Given the description of an element on the screen output the (x, y) to click on. 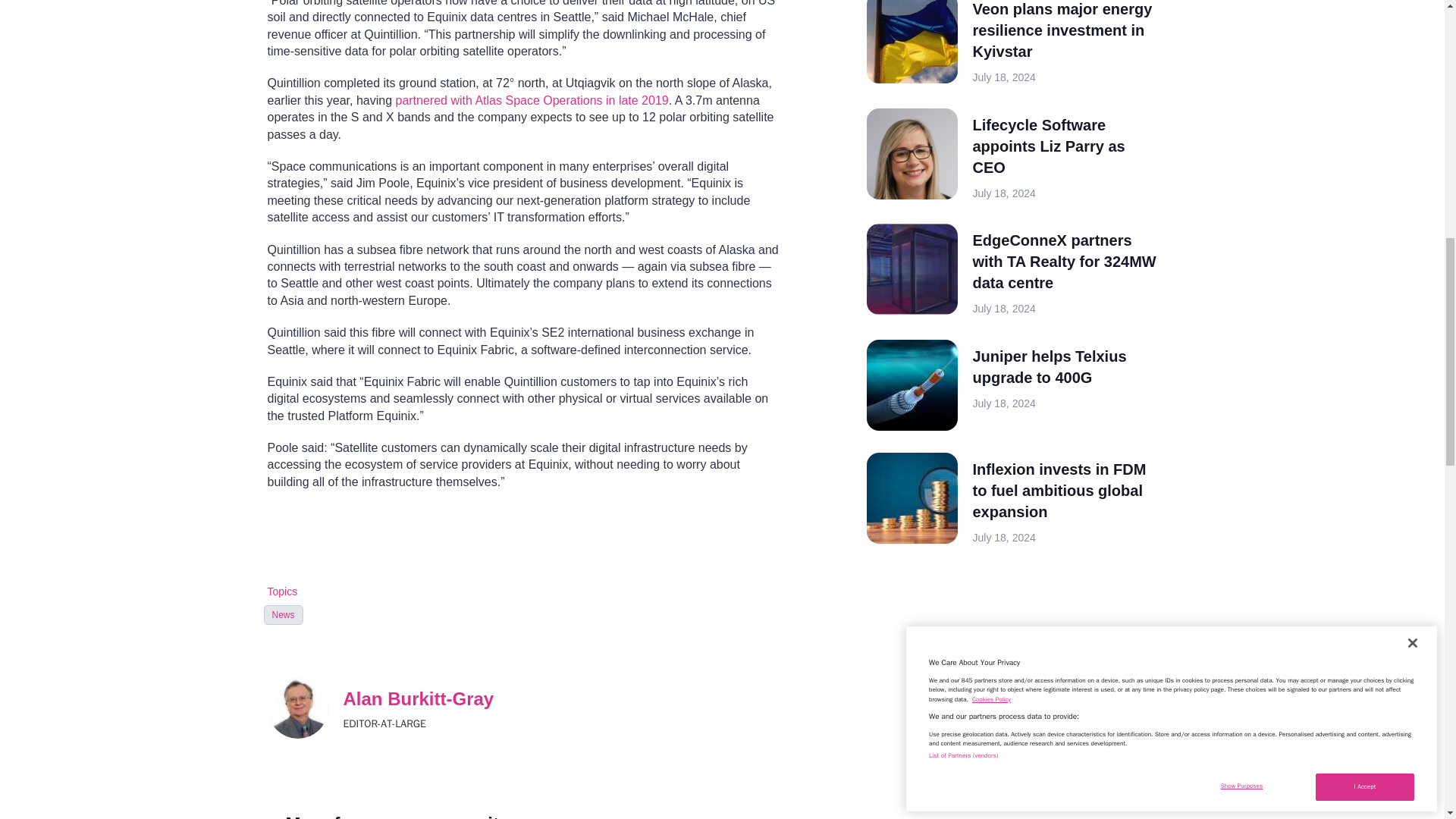
3rd party ad content (979, 660)
